Given the description of an element on the screen output the (x, y) to click on. 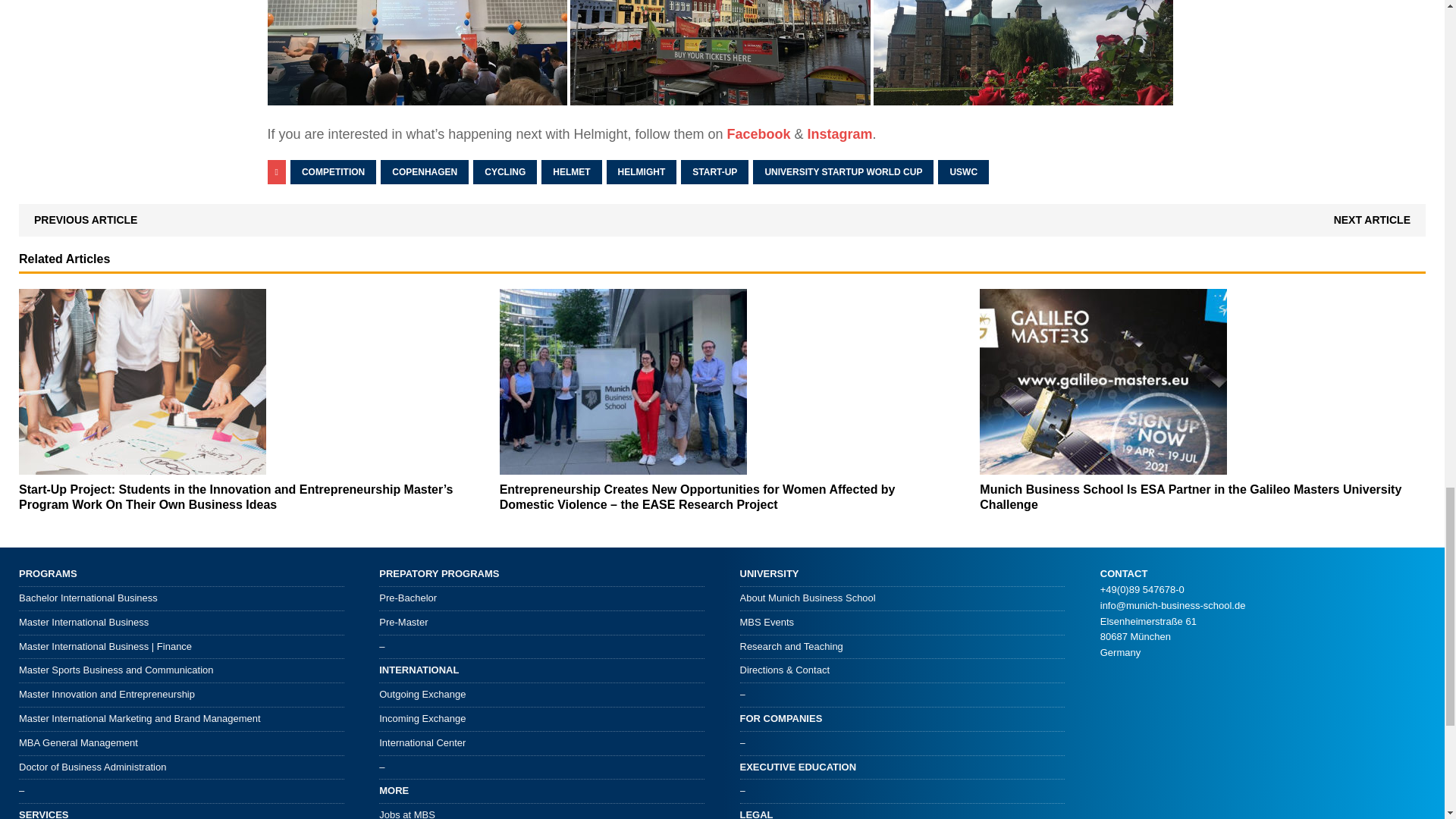
Instagram (840, 133)
Facebook (758, 133)
